Given the description of an element on the screen output the (x, y) to click on. 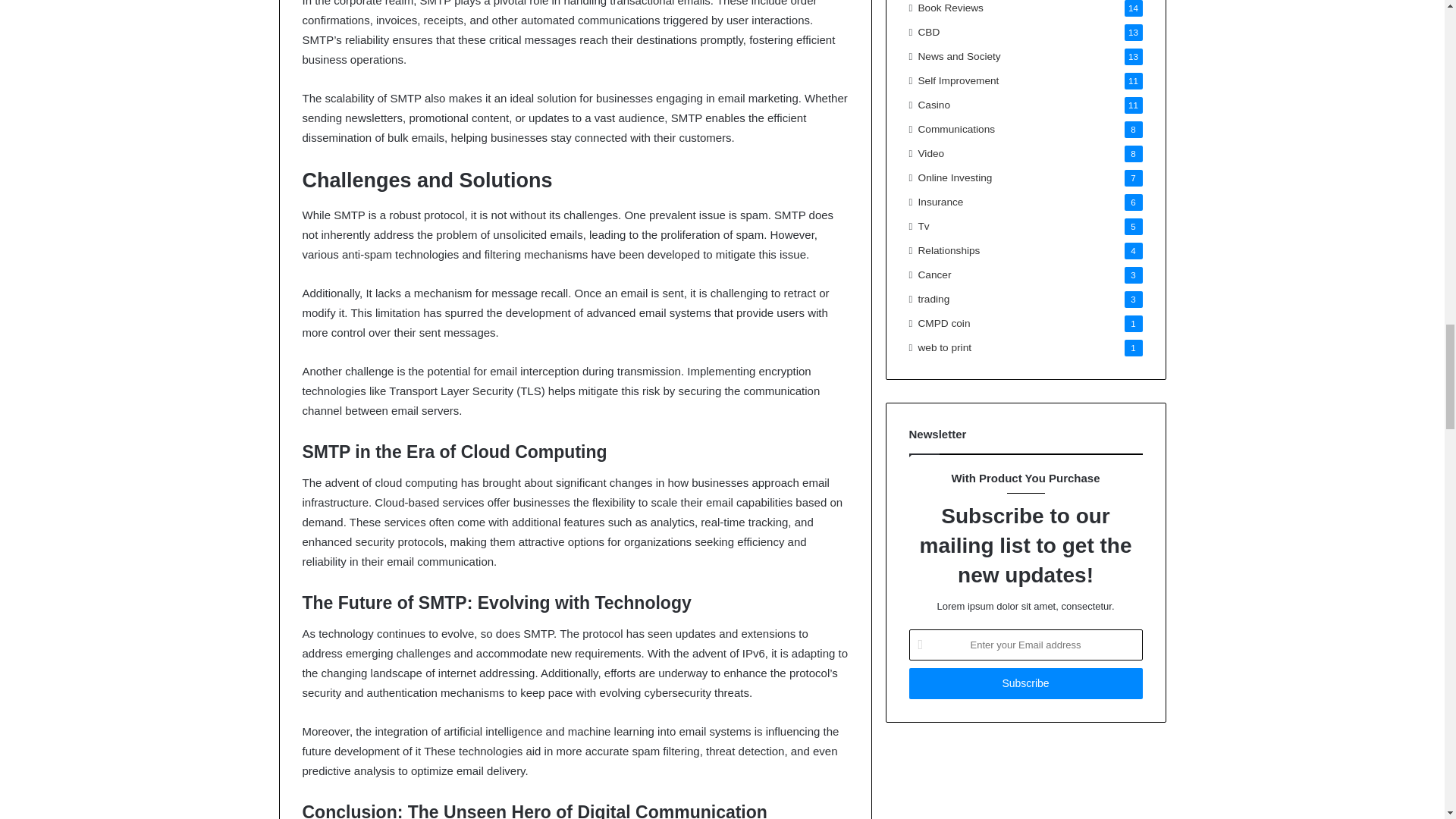
Subscribe (1025, 683)
